Given the description of an element on the screen output the (x, y) to click on. 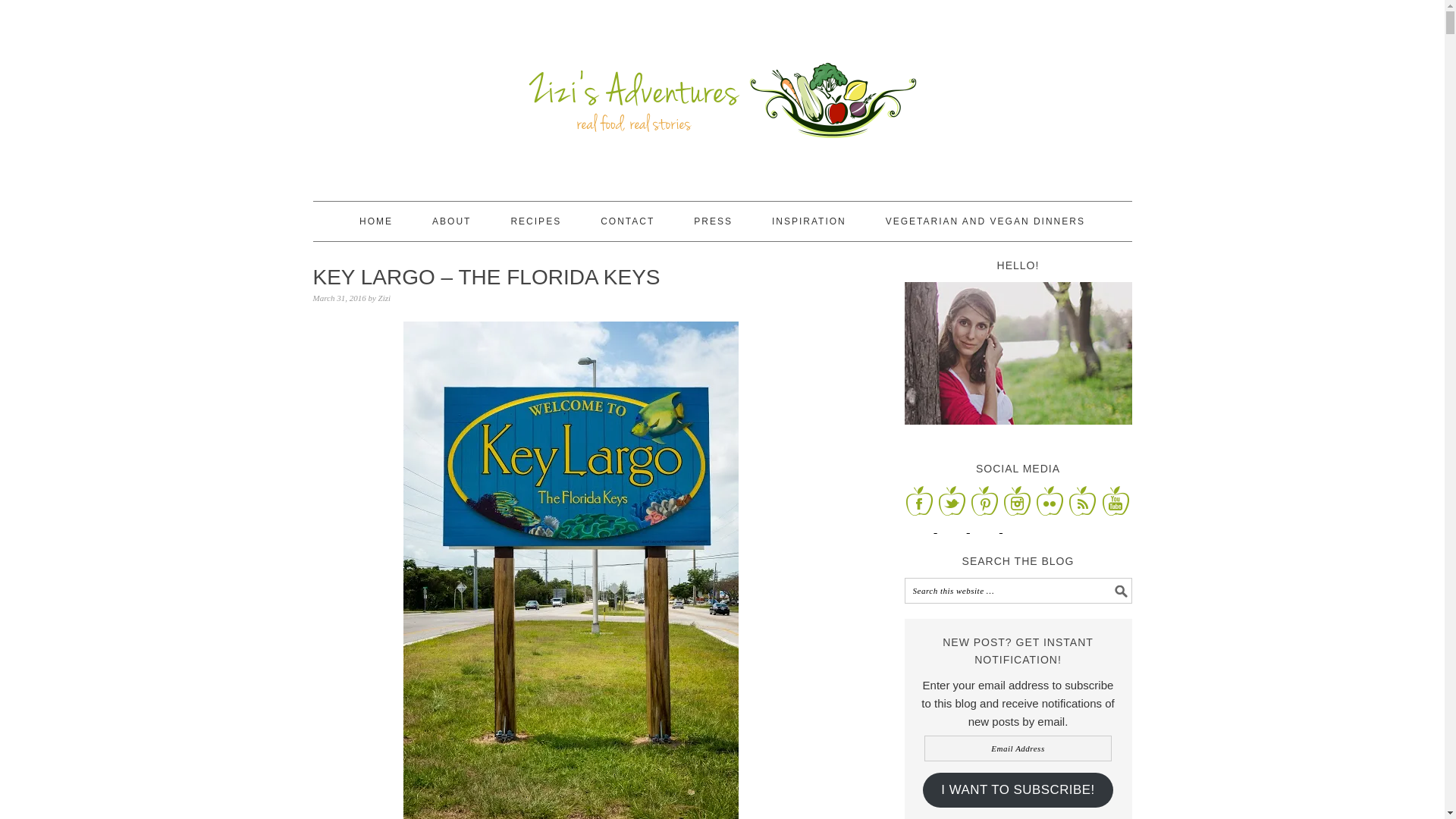
INSPIRATION (808, 220)
VEGETARIAN AND VEGAN DINNERS (984, 220)
ABOUT (451, 220)
CONTACT (626, 220)
HOME (376, 220)
PRESS (713, 220)
Zizi (384, 297)
RECIPES (535, 220)
